Given the description of an element on the screen output the (x, y) to click on. 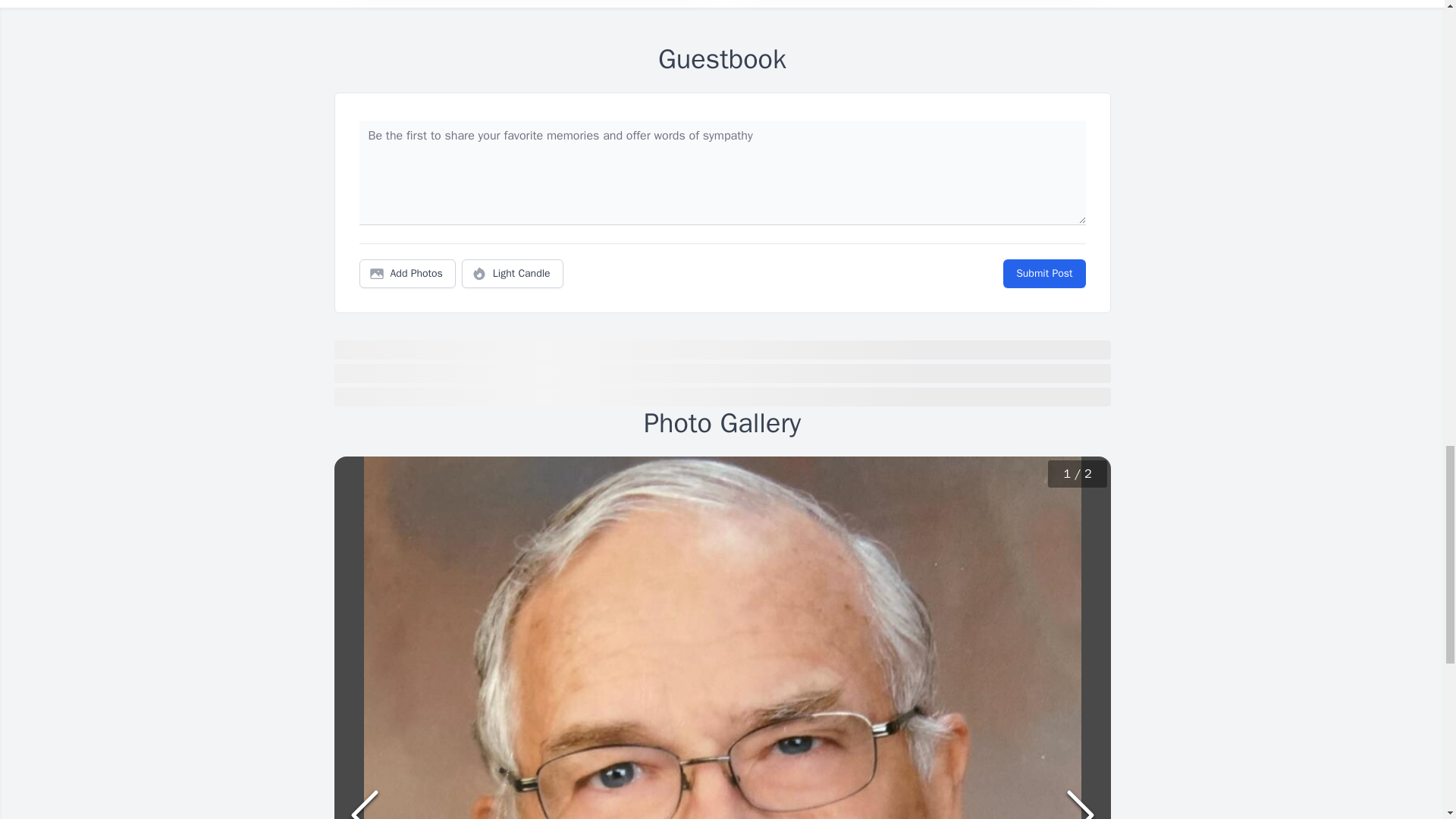
Light Candle (512, 273)
Add Photos (407, 273)
Submit Post (1043, 273)
